Given the description of an element on the screen output the (x, y) to click on. 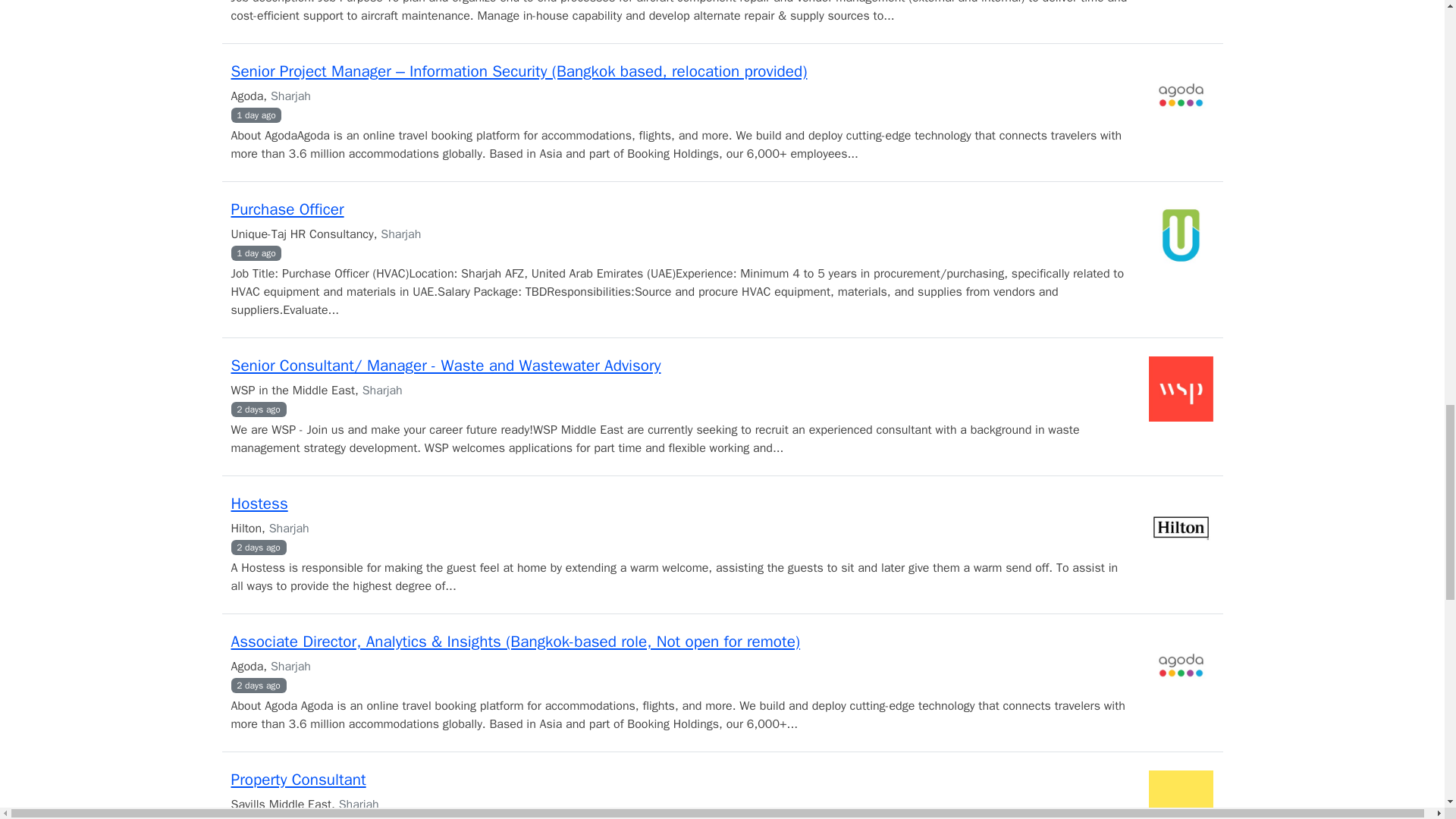
Hostess (258, 503)
Property Consultant (297, 779)
Purchase Officer (286, 209)
